Given the description of an element on the screen output the (x, y) to click on. 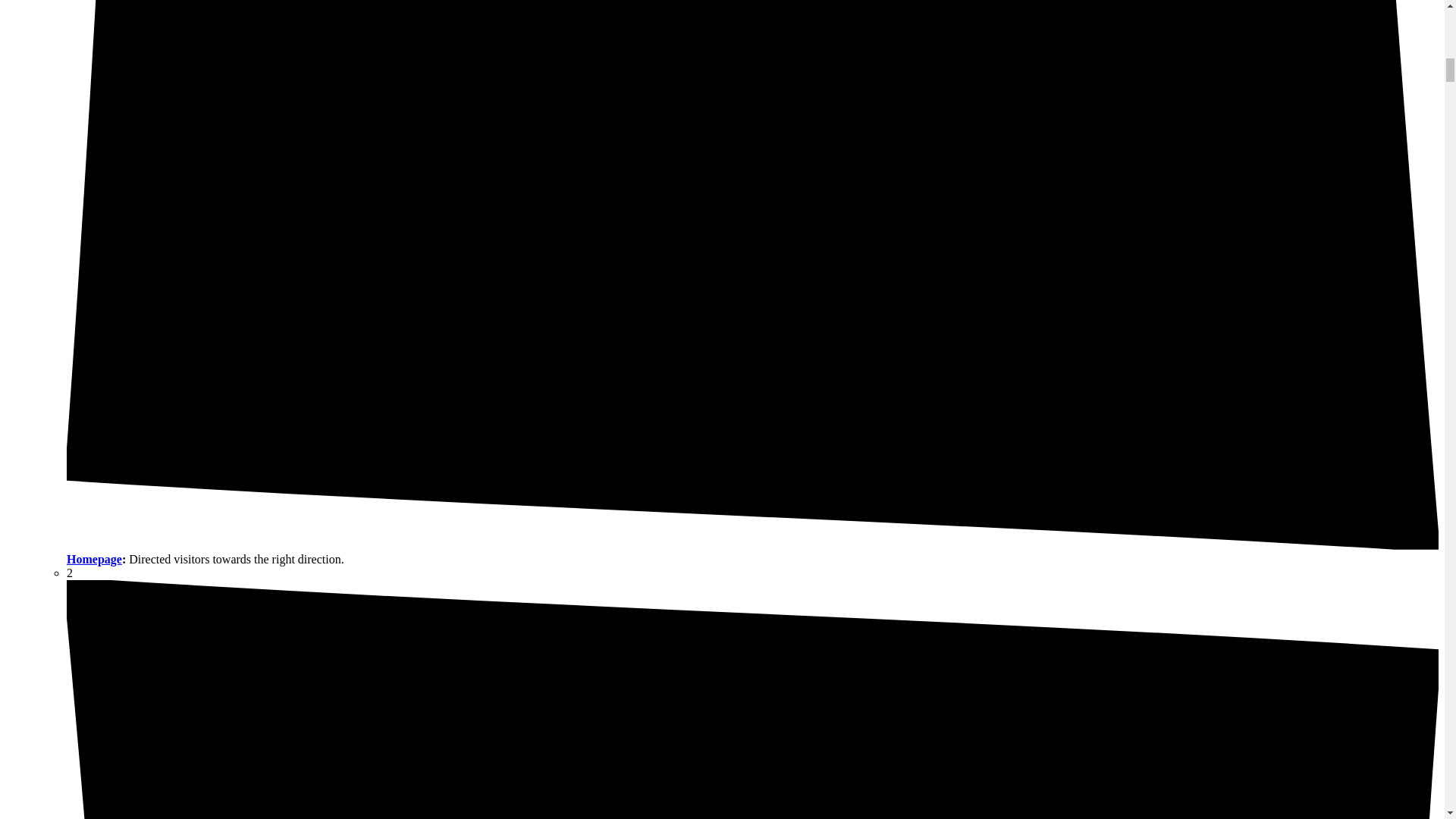
Couch Gamers (94, 558)
Homepage (94, 558)
